Given the description of an element on the screen output the (x, y) to click on. 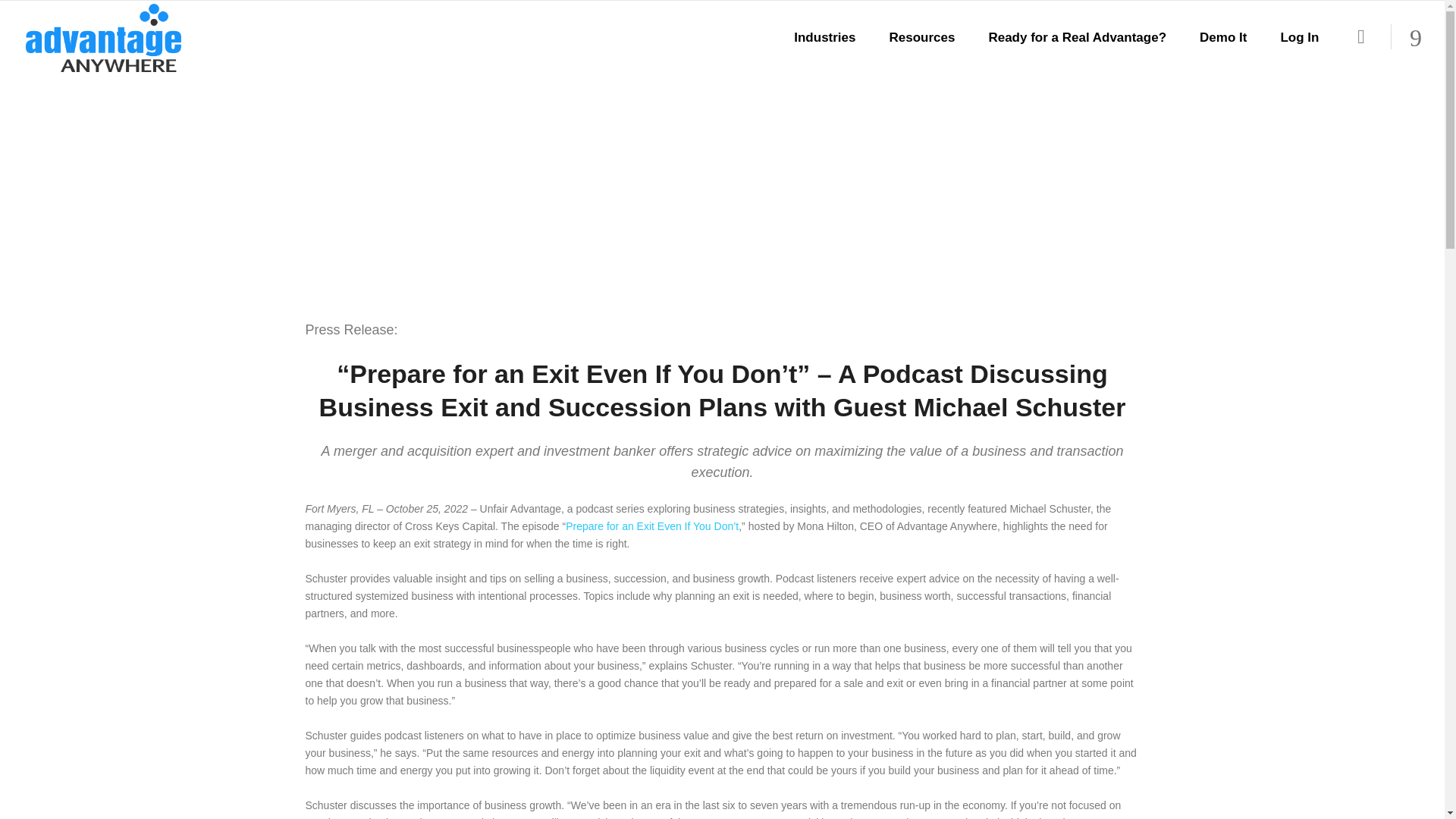
Ready for a Real Advantage? (1076, 38)
Resources (921, 38)
Log In (1299, 38)
Demo It (1223, 38)
Industries (824, 38)
